Given the description of an element on the screen output the (x, y) to click on. 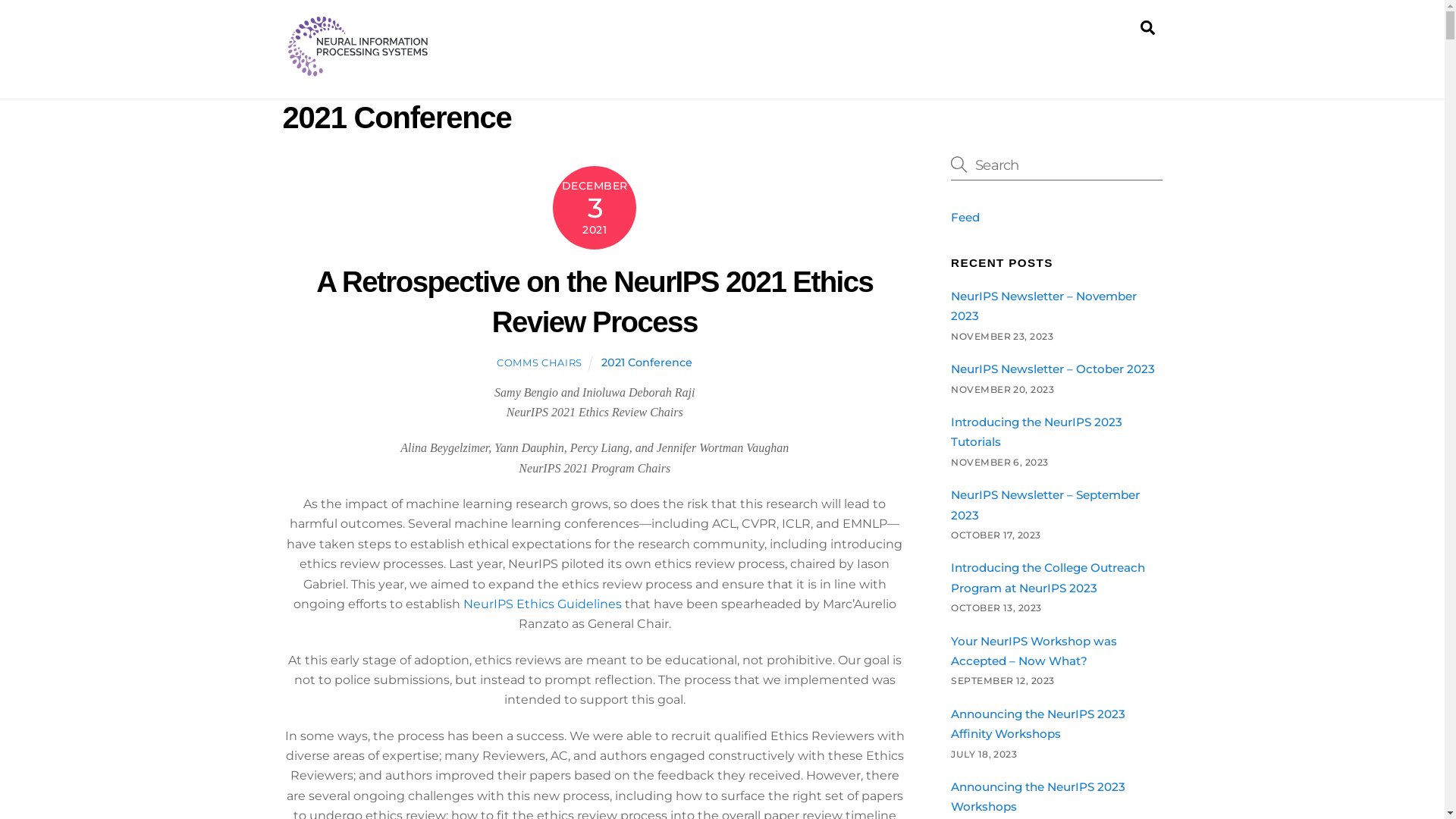
Announcing the NeurIPS 2023 Workshops Element type: text (1037, 796)
2021 Conference Element type: text (646, 362)
COMMS CHAIRS Element type: text (539, 362)
NeurIPS Blog Element type: hover (357, 69)
NeurIPS Ethics Guidelines Element type: text (542, 603)
Search Element type: text (1147, 26)
Search Element type: hover (1055, 163)
A Retrospective on the NeurIPS 2021 Ethics Review Process Element type: text (594, 301)
Announcing the NeurIPS 2023 Affinity Workshops Element type: text (1037, 723)
Introducing the NeurIPS 2023 Tutorials Element type: text (1036, 431)
neurips-logo-svg Element type: hover (357, 45)
Introducing the College Outreach Program at NeurIPS 2023 Element type: text (1047, 577)
Feed Element type: text (964, 217)
